Given the description of an element on the screen output the (x, y) to click on. 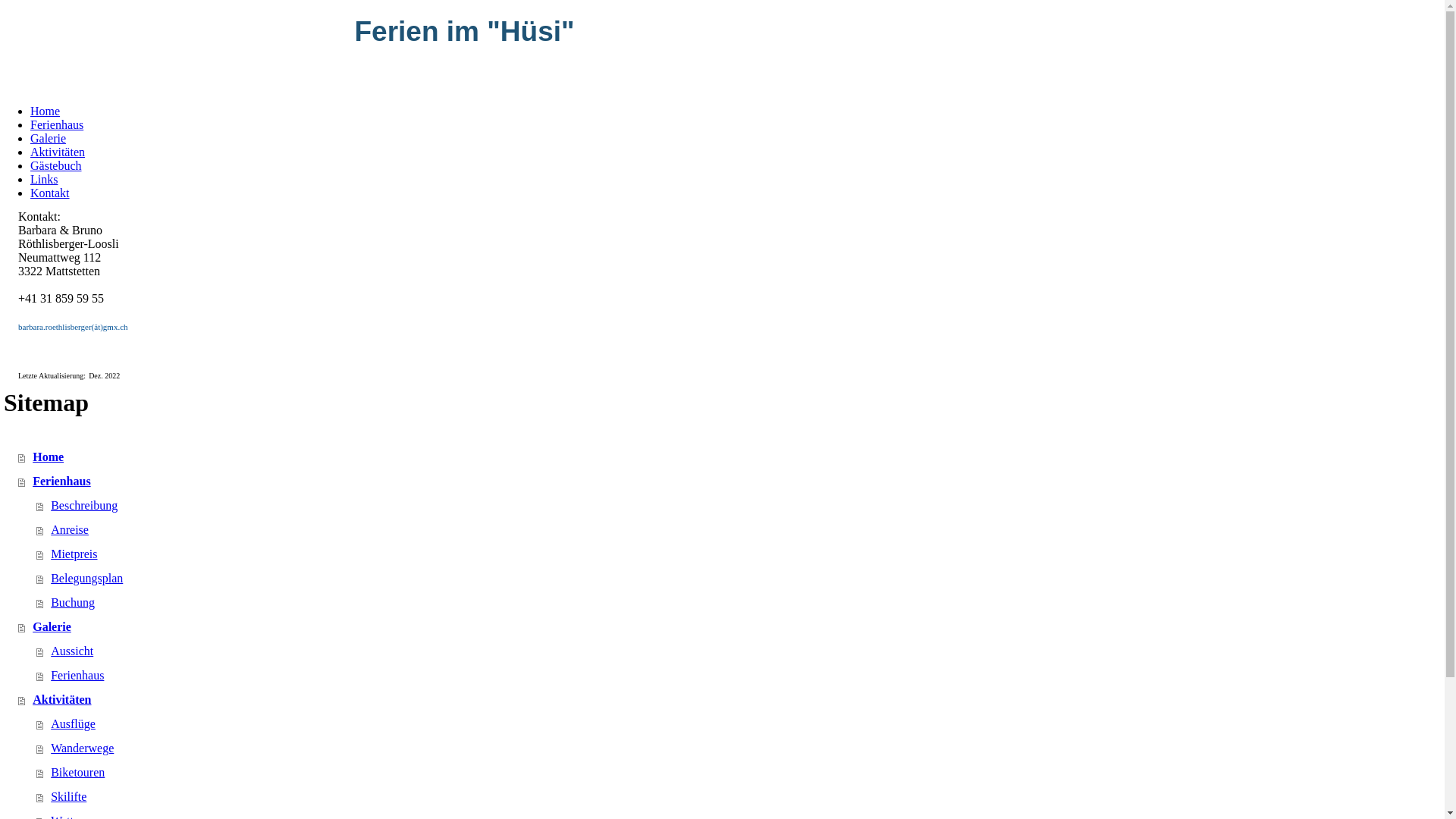
Wanderwege Element type: text (740, 748)
Kontakt Element type: text (49, 192)
Ferienhaus Element type: text (731, 481)
Mietpreis Element type: text (740, 554)
Buchung Element type: text (740, 602)
Skilifte Element type: text (740, 796)
Ferienhaus Element type: text (740, 675)
Beschreibung Element type: text (740, 505)
Links Element type: text (43, 178)
Galerie Element type: text (731, 627)
Anreise Element type: text (740, 529)
Belegungsplan Element type: text (740, 578)
Home Element type: text (44, 110)
Home Element type: text (731, 457)
Galerie Element type: text (47, 137)
Biketouren Element type: text (740, 772)
Ferienhaus Element type: text (56, 124)
Aussicht Element type: text (740, 651)
